Given the description of an element on the screen output the (x, y) to click on. 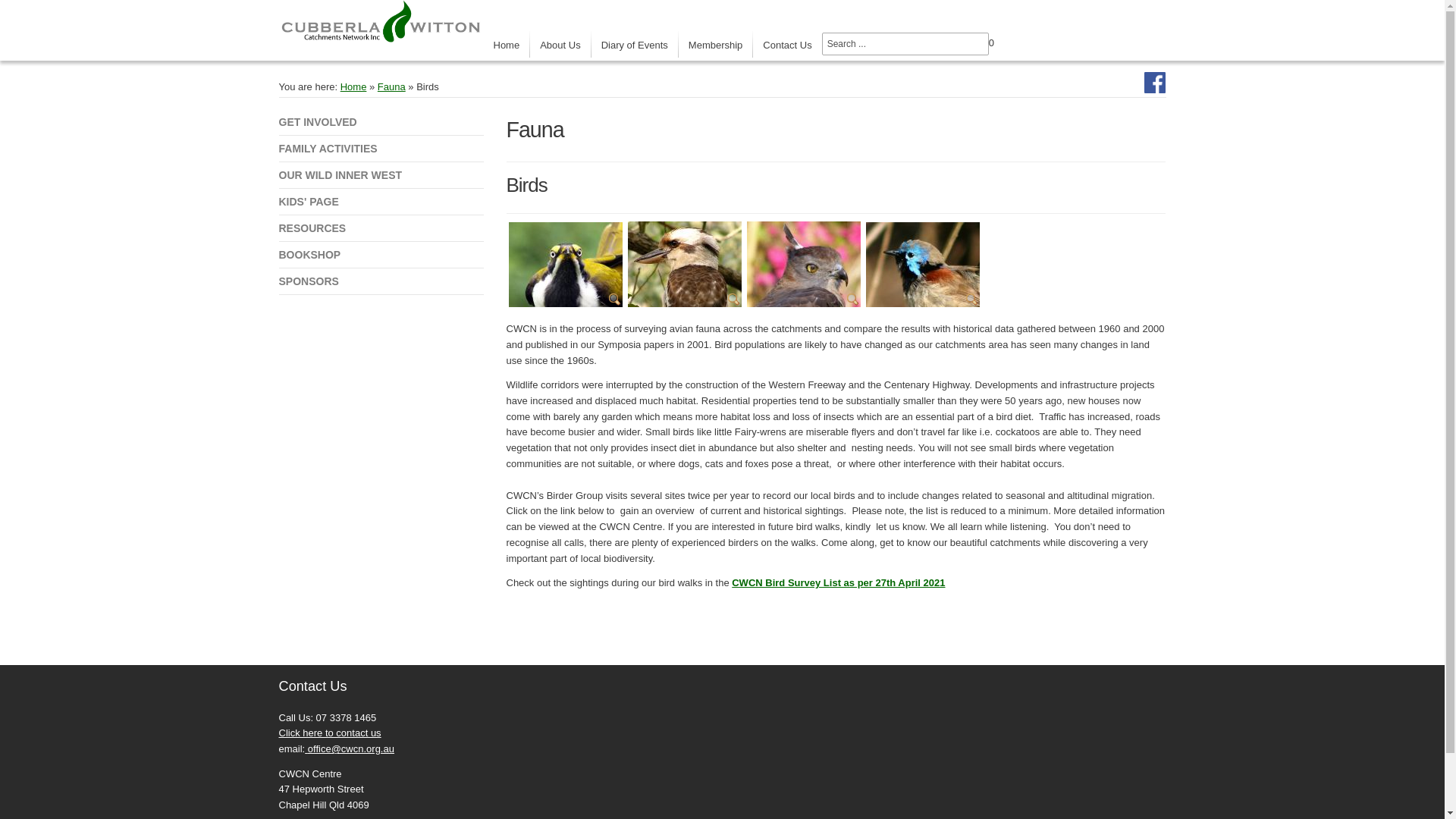
Home Element type: text (506, 44)
office@cwcn.org.au Element type: text (349, 748)
Diary of Events Element type: text (634, 44)
KIDS' PAGE Element type: text (381, 201)
FAMILY ACTIVITIES Element type: text (381, 148)
CWCN Bird Survey List as per 27th April 2021 Element type: text (837, 582)
office@cwcn.org.au Element type: text (350, 748)
GET INVOLVED Element type: text (381, 121)
RESOURCES Element type: text (381, 228)
BOOKSHOP Element type: text (381, 254)
OUR WILD INNER WEST Element type: text (381, 175)
Fauna Element type: text (391, 86)
Home Element type: text (353, 86)
https://www.facebook.com/cwcn.org.au Element type: hover (1154, 81)
SPONSORS Element type: text (381, 281)
Click here to contact us Element type: text (330, 732)
Contact Us Element type: text (787, 44)
About Us Element type: text (559, 44)
Membership Element type: text (715, 44)
